Given the description of an element on the screen output the (x, y) to click on. 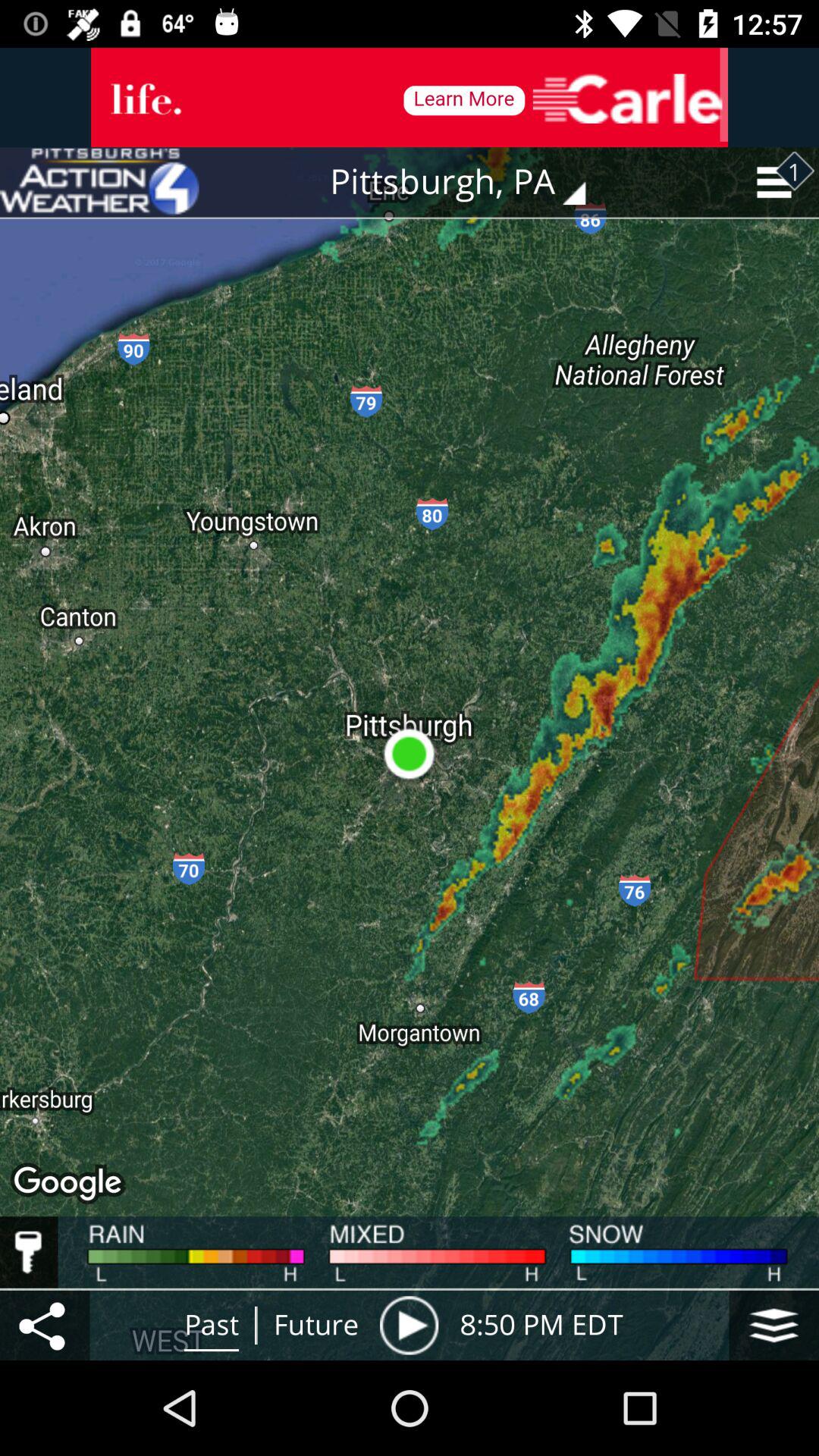
turn off icon next to pittsburgh, pa (99, 182)
